Given the description of an element on the screen output the (x, y) to click on. 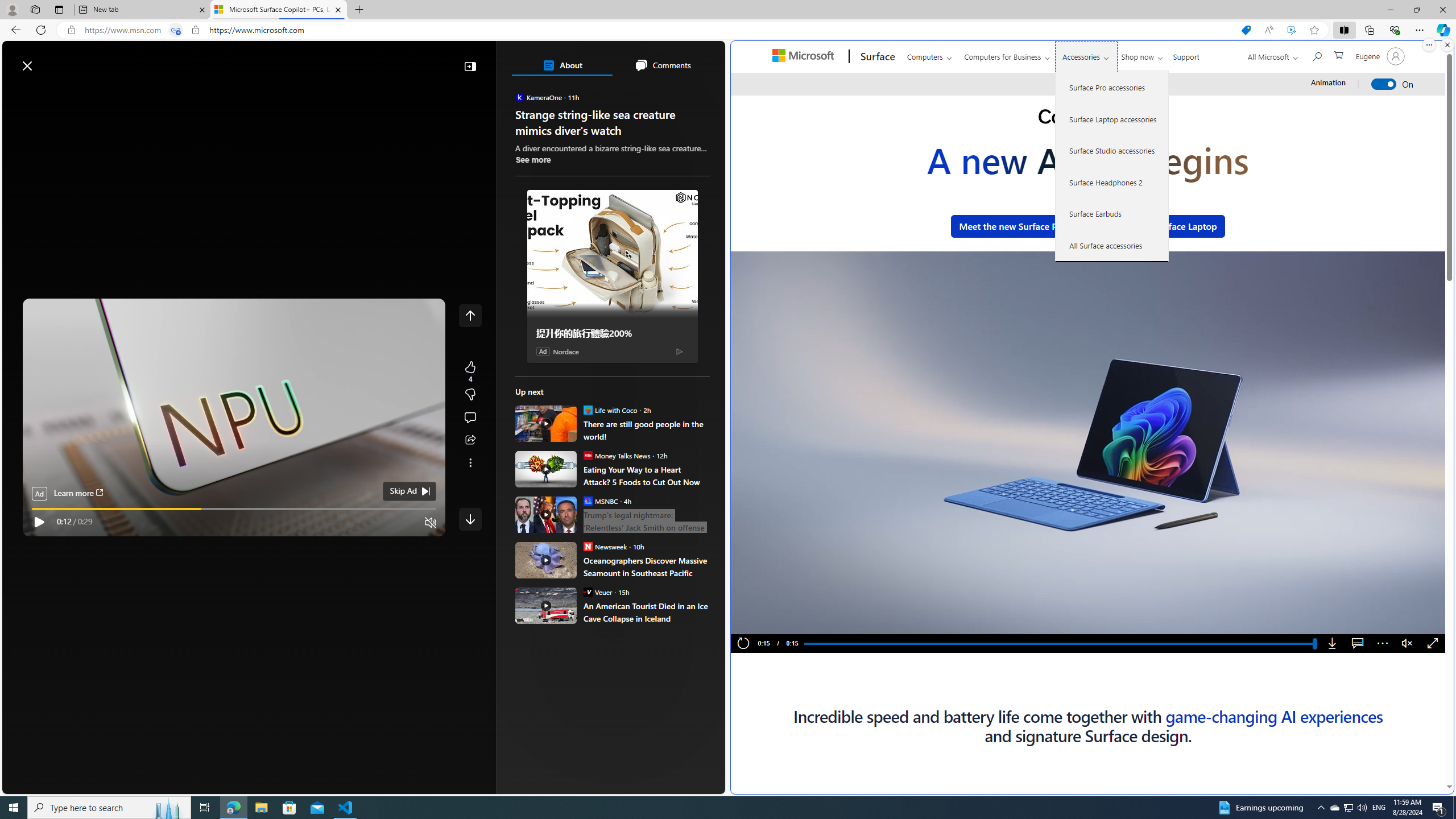
Eating Your Way to a Heart Attack? 5 Foods to Cut Out Now (646, 475)
The Associated Press (554, 366)
Personalize (679, 92)
Surface Headphones 2 (1112, 182)
Surface Earbuds (1112, 214)
Share this story (469, 440)
Unmute (1406, 643)
